Given the description of an element on the screen output the (x, y) to click on. 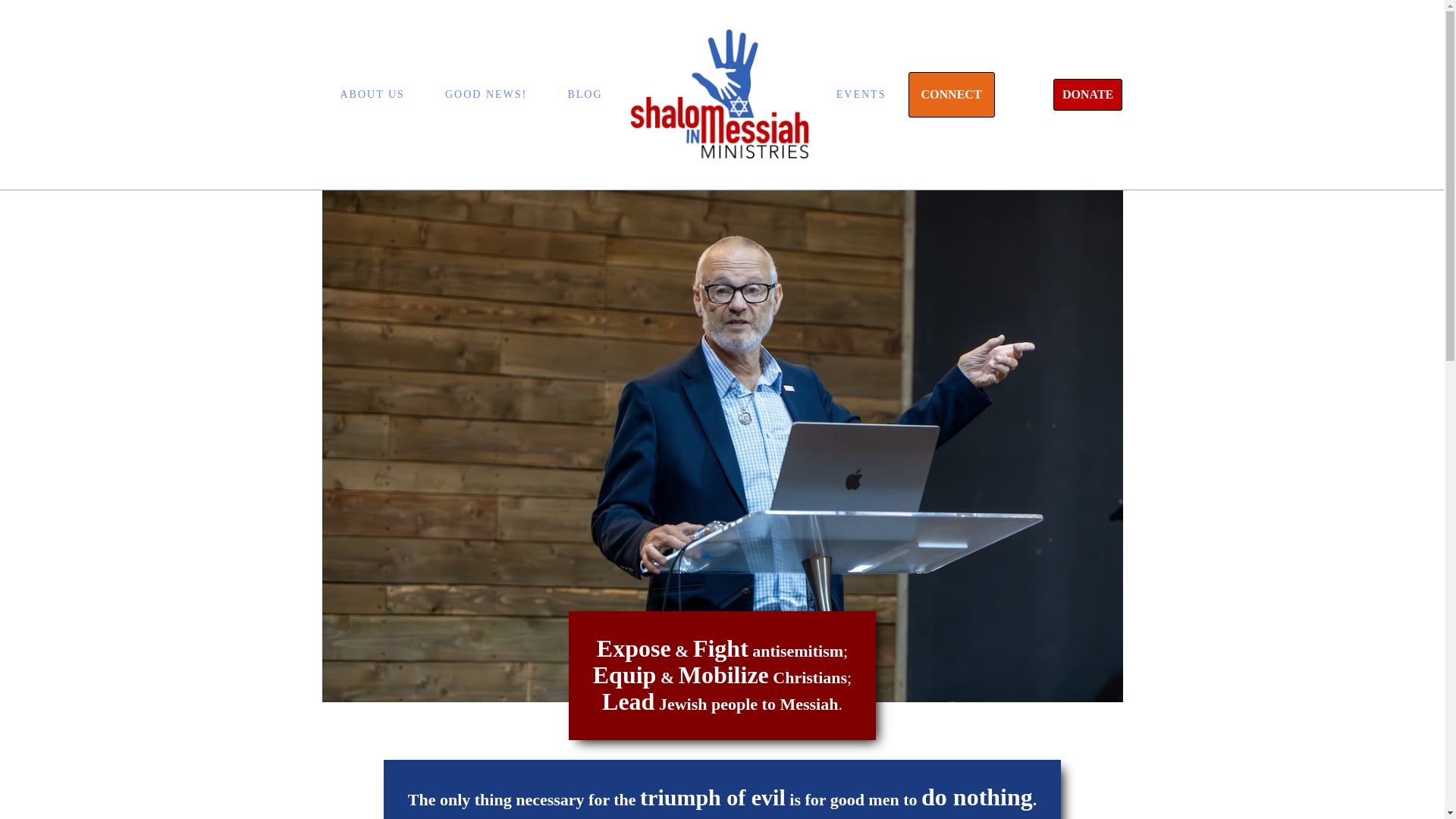
ABOUT US (371, 93)
GOOD NEWS! (485, 93)
BLOG (584, 93)
EVENTS (861, 93)
DONATE (1087, 94)
CONNECT (951, 94)
